Given the description of an element on the screen output the (x, y) to click on. 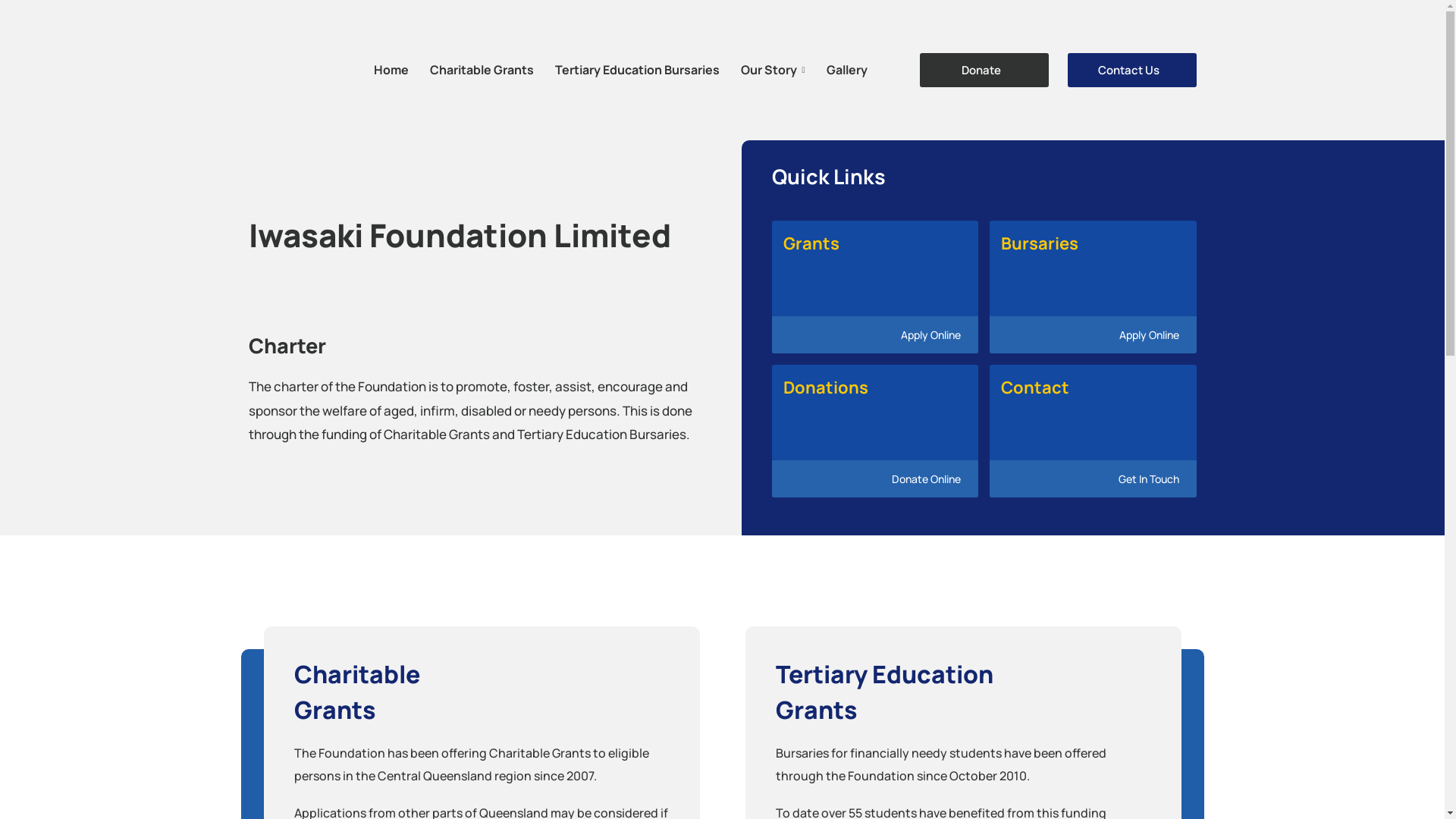
Donate Element type: text (983, 70)
Donations
Donate Online Element type: text (875, 430)
Tertiary Education Bursaries Element type: text (637, 70)
Gallery Element type: text (846, 70)
Charitable Grants Element type: text (481, 70)
Our Story Element type: text (772, 69)
Bursaries
Apply Online Element type: text (1092, 286)
Contact
Get In Touch Element type: text (1092, 430)
Contact Us Element type: text (1131, 70)
Home Element type: text (390, 70)
Grants
Apply Online Element type: text (875, 286)
